Given the description of an element on the screen output the (x, y) to click on. 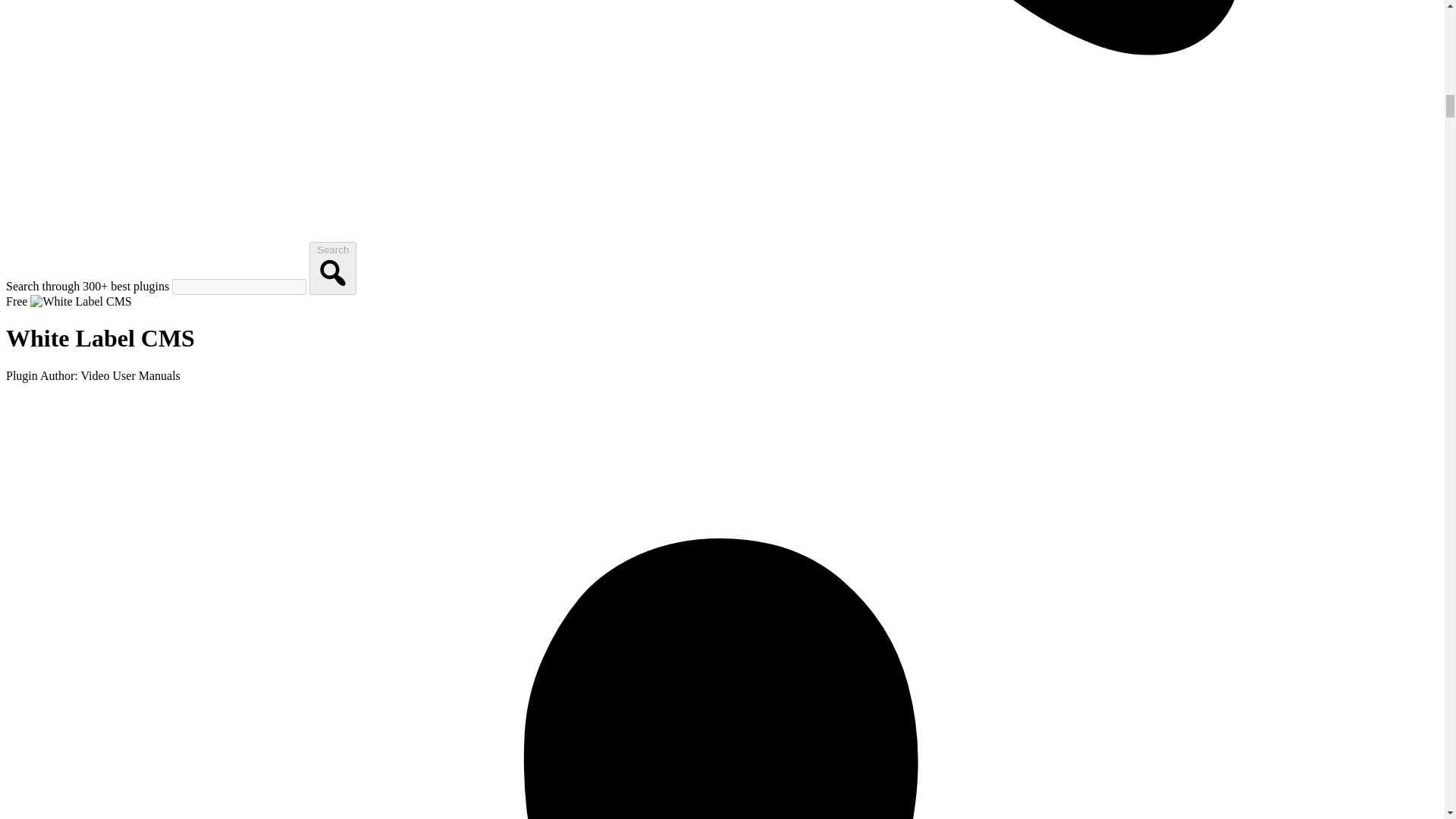
White Label CMS (80, 301)
